Given the description of an element on the screen output the (x, y) to click on. 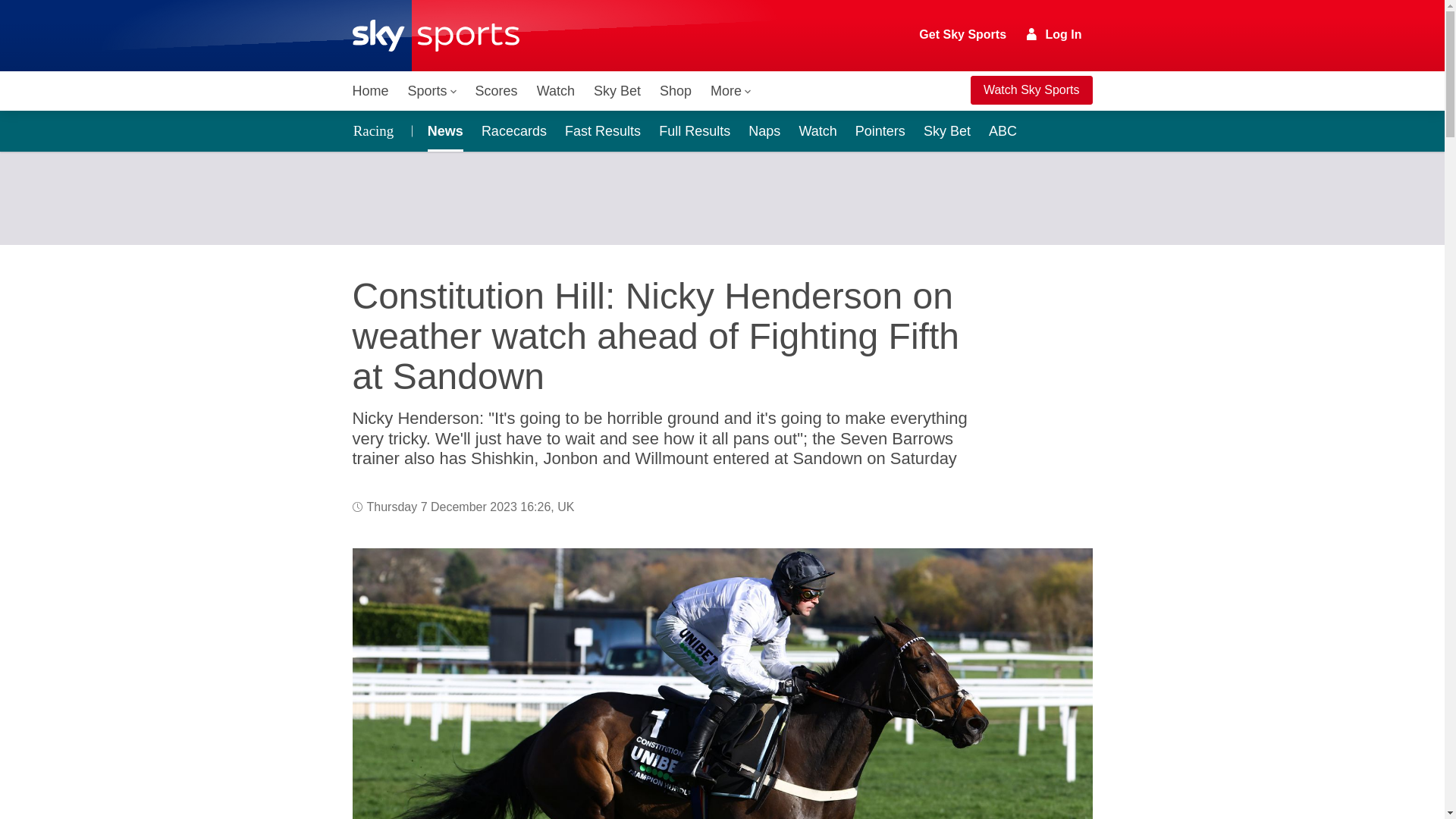
Sky Bet (616, 91)
Watch (555, 91)
Home (369, 91)
Log In (1053, 33)
Get Sky Sports (962, 34)
Watch Sky Sports (1032, 90)
Scores (496, 91)
Racing (377, 130)
Shop (675, 91)
Sports (432, 91)
More (730, 91)
